Given the description of an element on the screen output the (x, y) to click on. 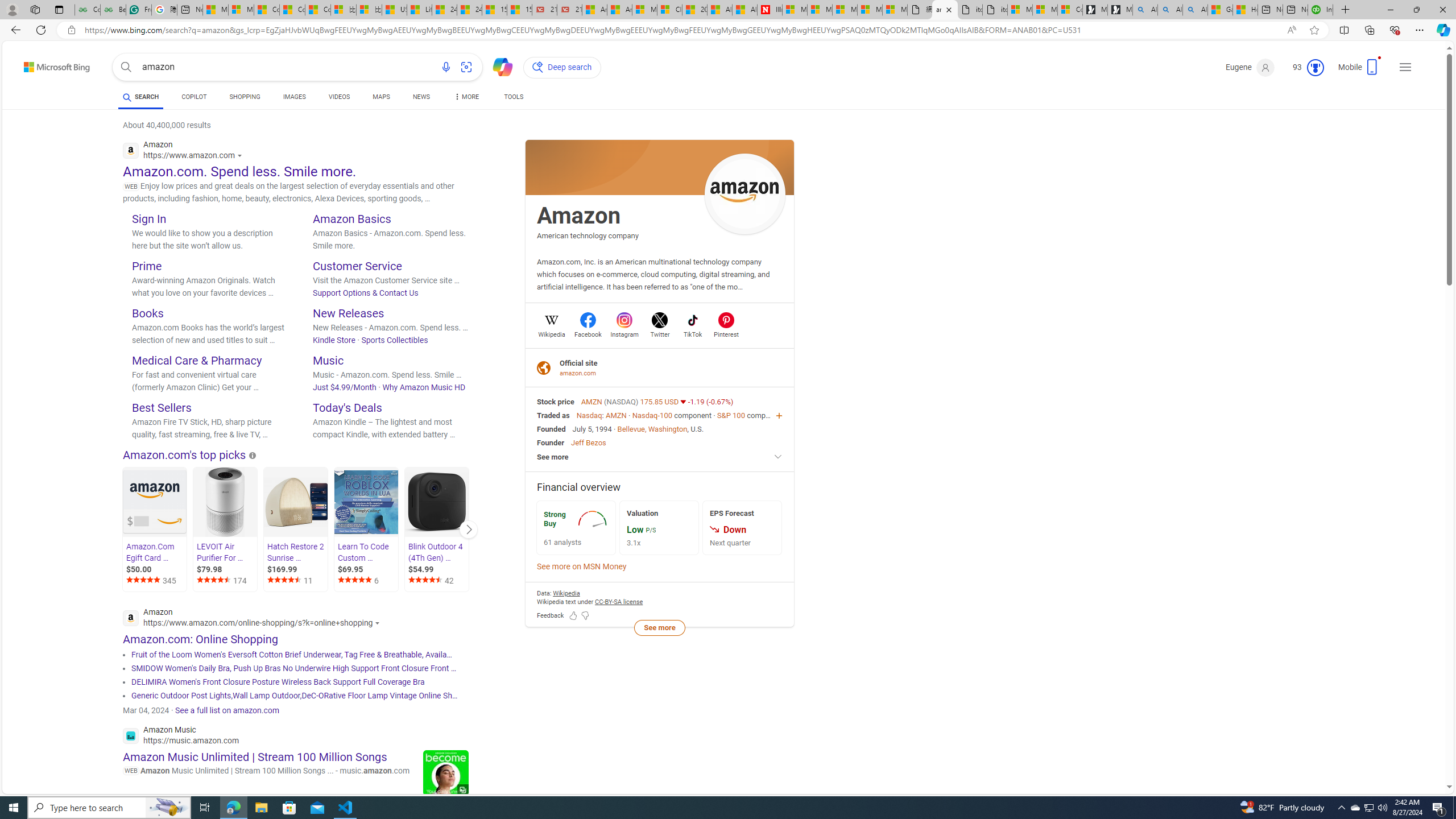
New Releases (348, 313)
Just $4.99/Month (345, 387)
Actions for this site (378, 622)
Search more (1423, 753)
TOOLS (512, 96)
Medical Care & Pharmacy (197, 359)
S&P 100 (730, 415)
Wikipedia (551, 333)
Amazon Music (180, 736)
